Given the description of an element on the screen output the (x, y) to click on. 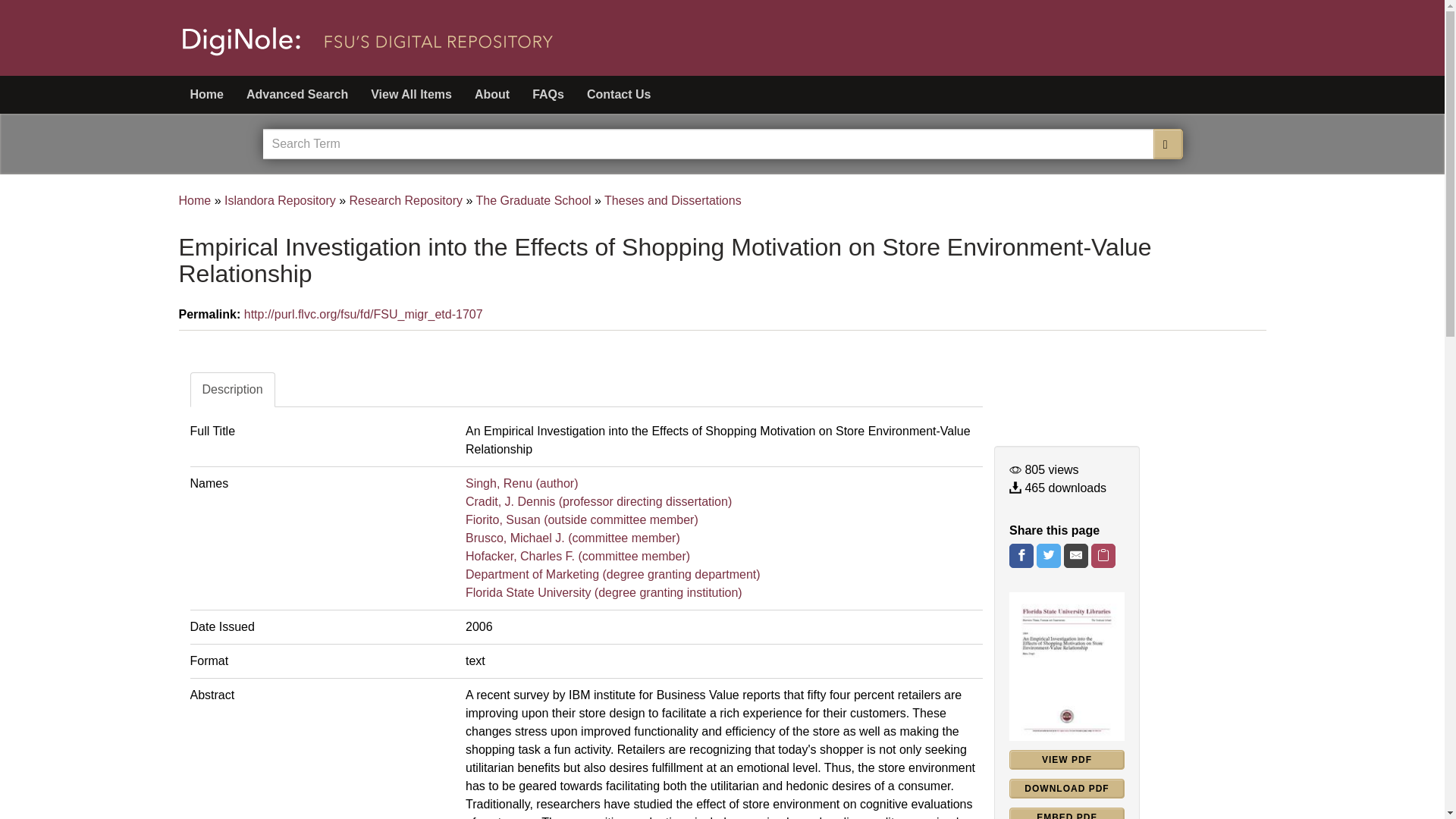
Share via Email (1077, 554)
Research Repository (406, 200)
View All Items (411, 94)
Home (211, 94)
Share on Twitter (1050, 554)
Theses and Dissertations (672, 200)
FAQs (548, 94)
Advanced Search (296, 94)
Share on Facebook (1022, 554)
